Given the description of an element on the screen output the (x, y) to click on. 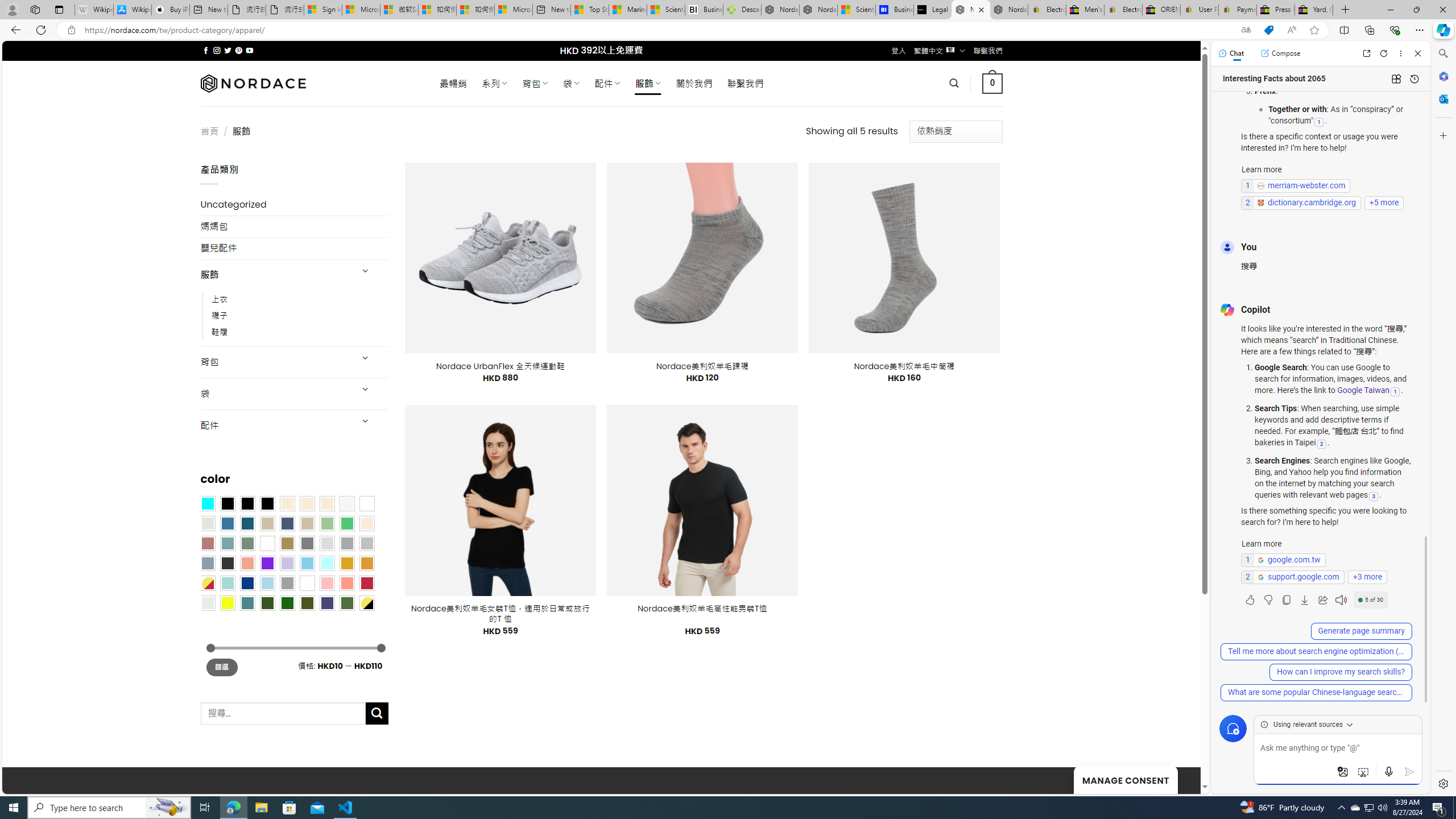
 0  (992, 83)
Microsoft account | Account Checkup (513, 9)
Chat (1231, 52)
Buy iPad - Apple (171, 9)
